Given the description of an element on the screen output the (x, y) to click on. 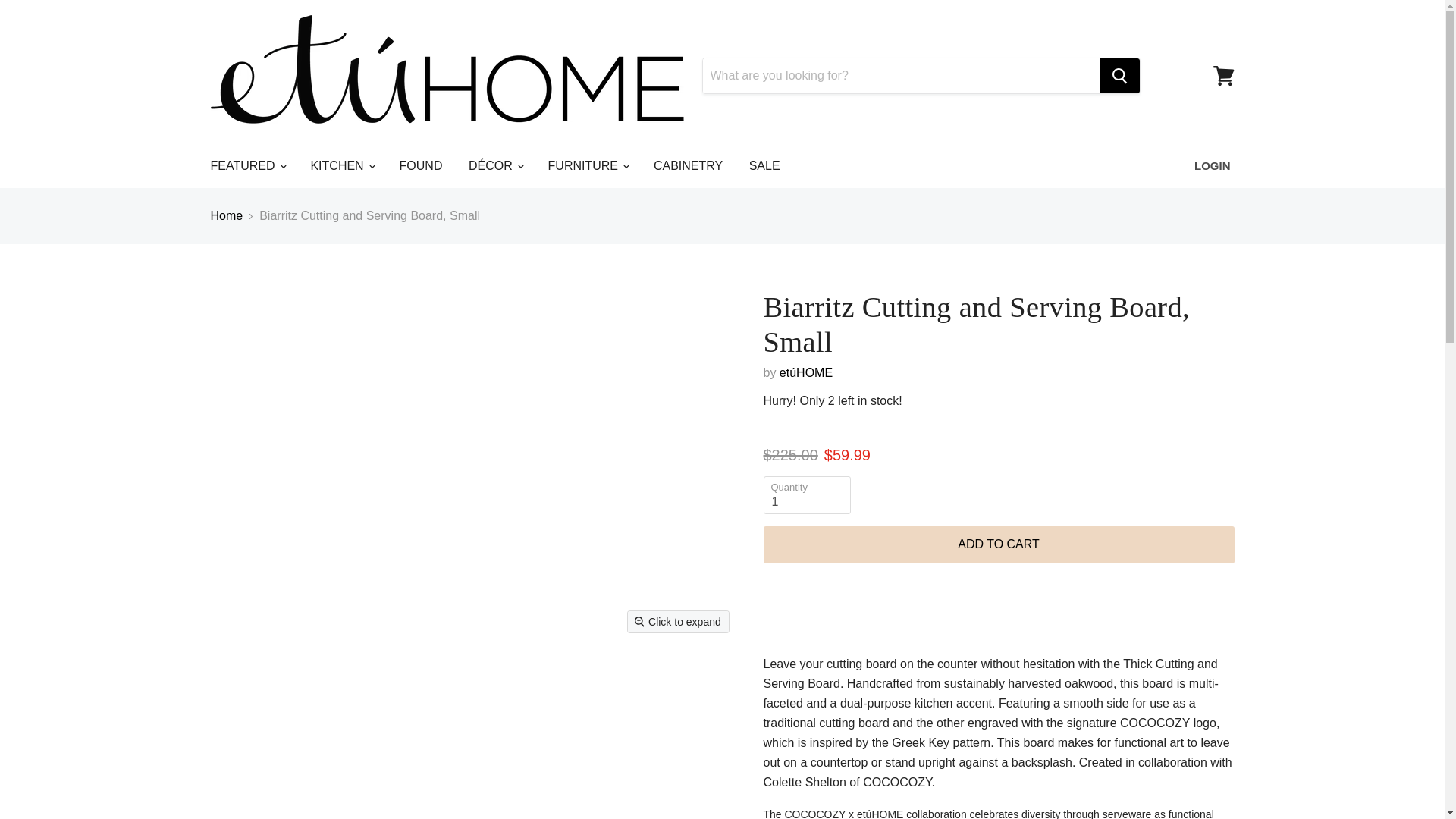
View cart (1223, 75)
1 (806, 494)
FEATURED (246, 165)
KITCHEN (341, 165)
